Given the description of an element on the screen output the (x, y) to click on. 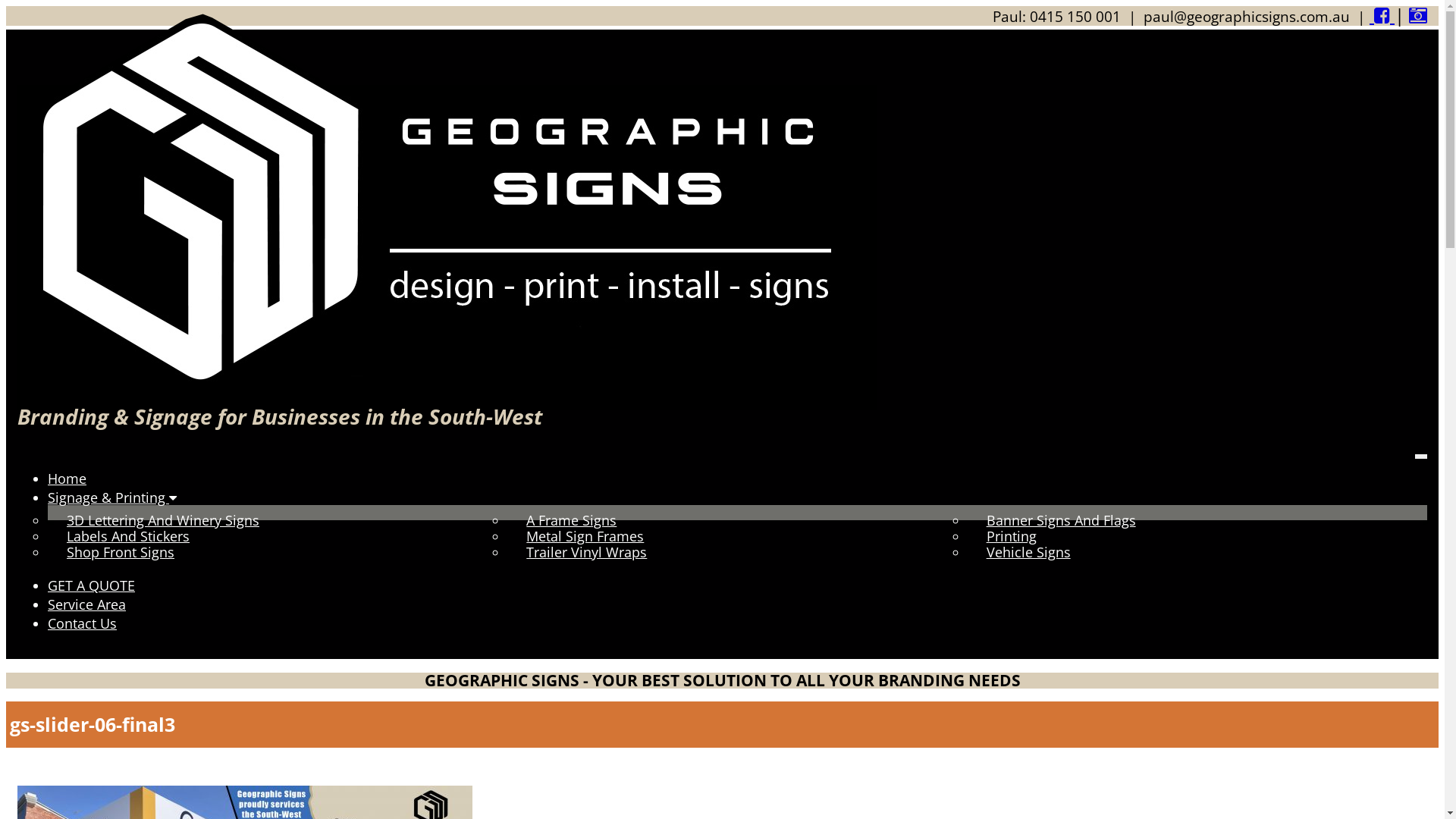
Signage & Printing Element type: text (108, 496)
Metal Sign Frames Element type: text (576, 535)
Trailer Vinyl Wraps Element type: text (577, 551)
Contact Us Element type: text (81, 622)
GET A QUOTE Element type: text (90, 584)
A Frame Signs Element type: text (562, 520)
Service Area Element type: text (86, 603)
Banner Signs And Flags Element type: text (1052, 520)
Vehicle Signs Element type: text (1019, 551)
Labels And Stickers Element type: text (119, 535)
3D Lettering And Winery Signs Element type: text (153, 520)
Shop Front Signs Element type: text (111, 551)
Toggle navigation Element type: text (1421, 455)
Home Element type: text (66, 478)
Printing Element type: text (1002, 535)
